Given the description of an element on the screen output the (x, y) to click on. 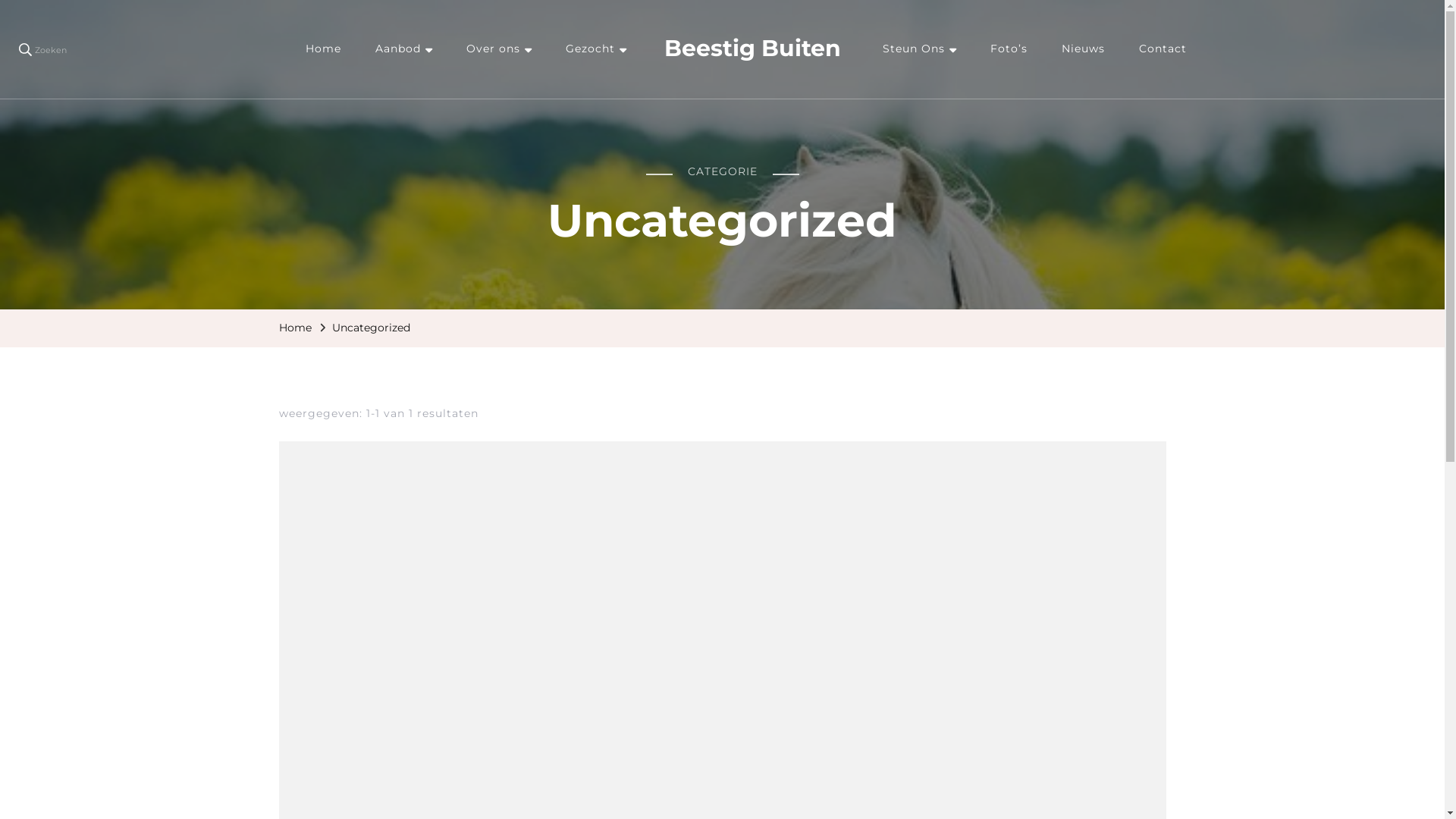
Uncategorized Element type: text (371, 327)
Gezocht Element type: text (595, 48)
Home Element type: text (323, 48)
Aanbod Element type: text (403, 48)
Steun Ons Element type: text (919, 48)
Over ons Element type: text (498, 48)
Home Element type: text (295, 327)
Beestig Buiten Element type: text (752, 48)
Nieuws Element type: text (1083, 48)
Contact Element type: text (1162, 48)
Zoeken Element type: text (42, 48)
